Given the description of an element on the screen output the (x, y) to click on. 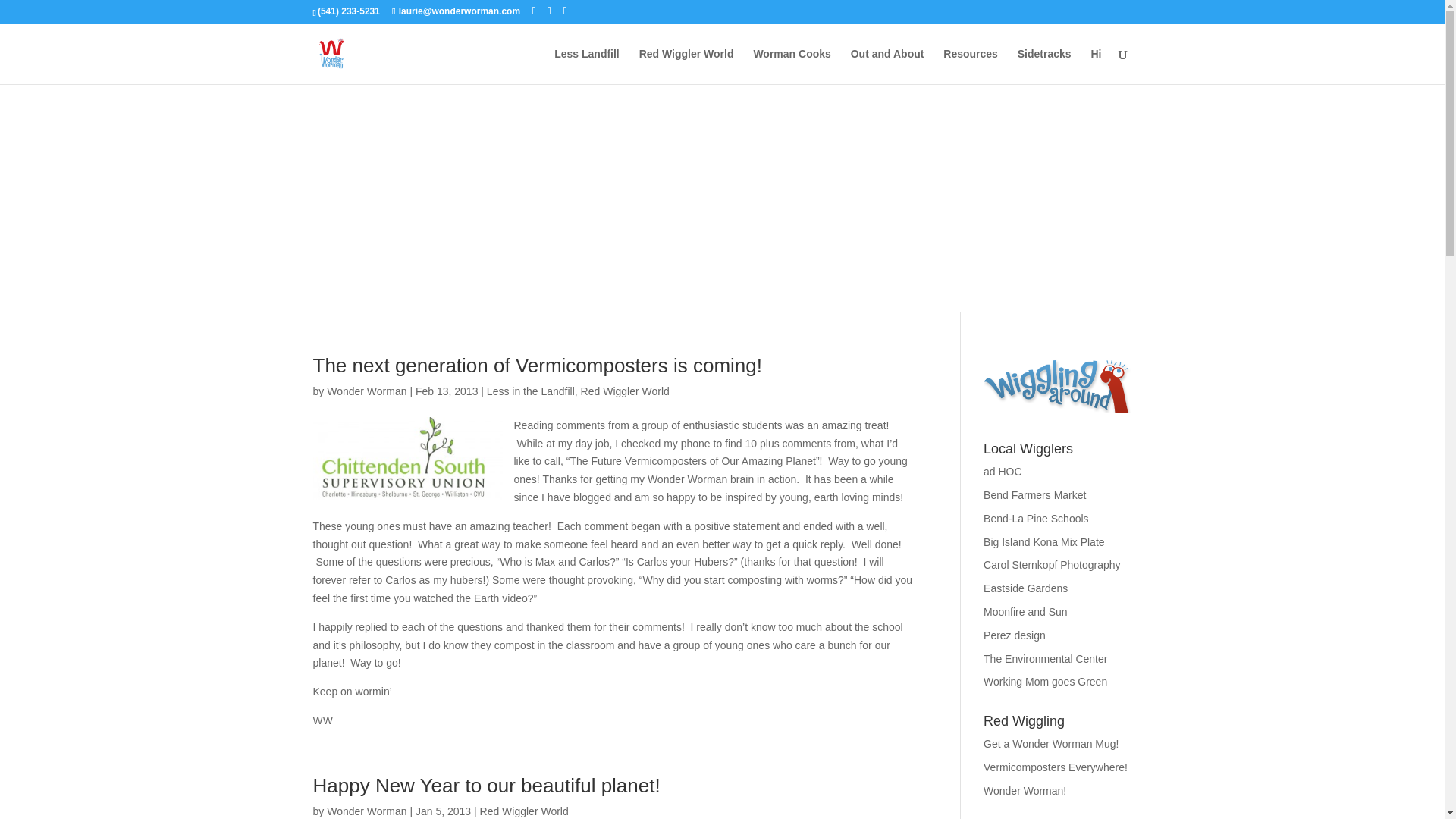
Worman Cooks (790, 66)
Sidetracks (1044, 66)
Less Landfill (587, 66)
Less in the Landfill (530, 390)
Posts by Wonder Worman (366, 390)
Red Wiggler World (686, 66)
Embedding sustainability into daily life in Central Oregon. (1045, 658)
Happy New Year to our beautiful planet! (486, 784)
The next generation of Vermicomposters is coming! (537, 364)
Wonder Worman (366, 390)
Wonder Worman (366, 811)
Island style food scraps that Red Wigglers love! (1044, 541)
Resources (970, 66)
